Given the description of an element on the screen output the (x, y) to click on. 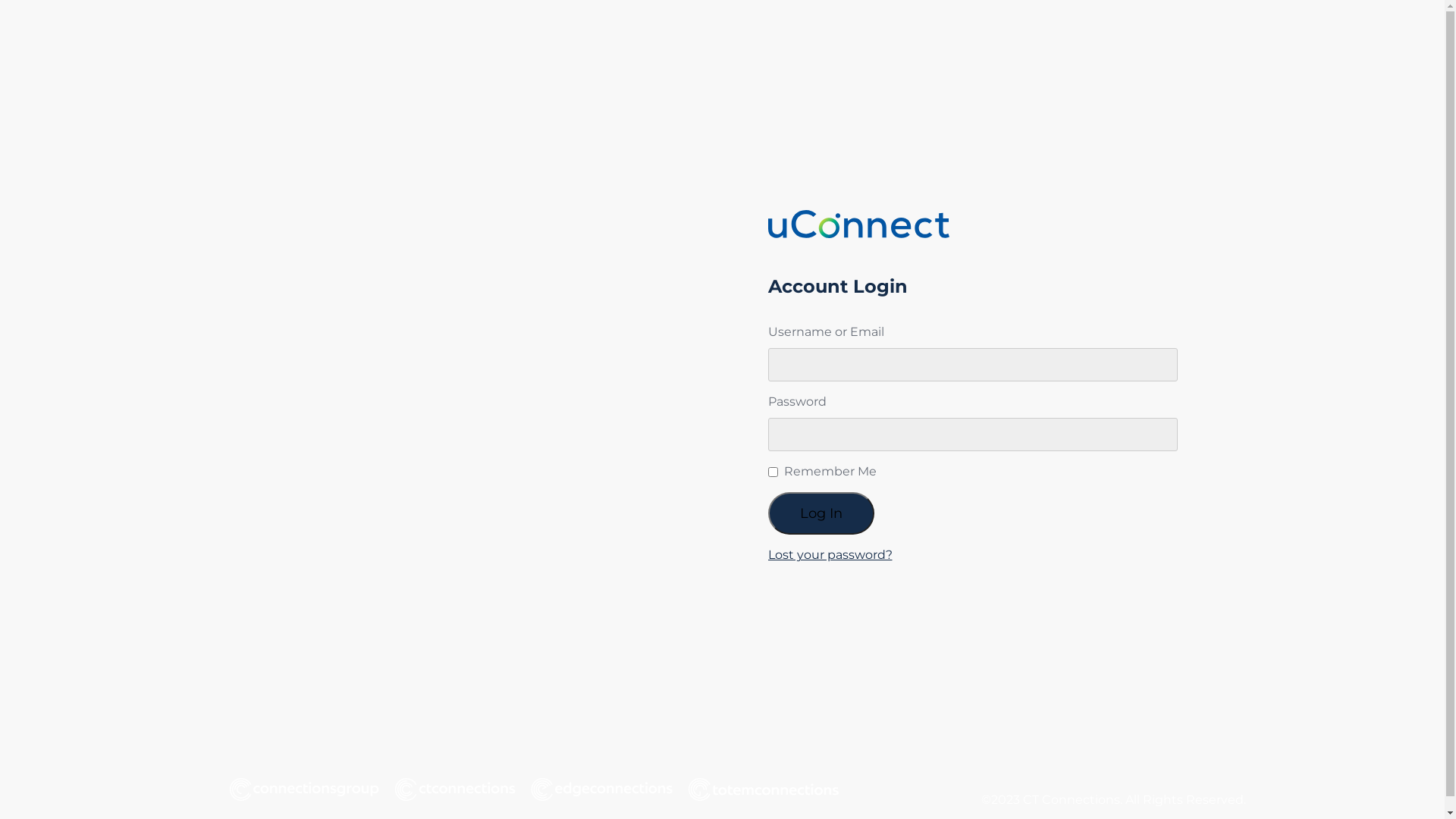
Lost your password? Element type: text (829, 554)
Skip to main content Element type: text (5, 5)
Log In Element type: text (820, 513)
